Given the description of an element on the screen output the (x, y) to click on. 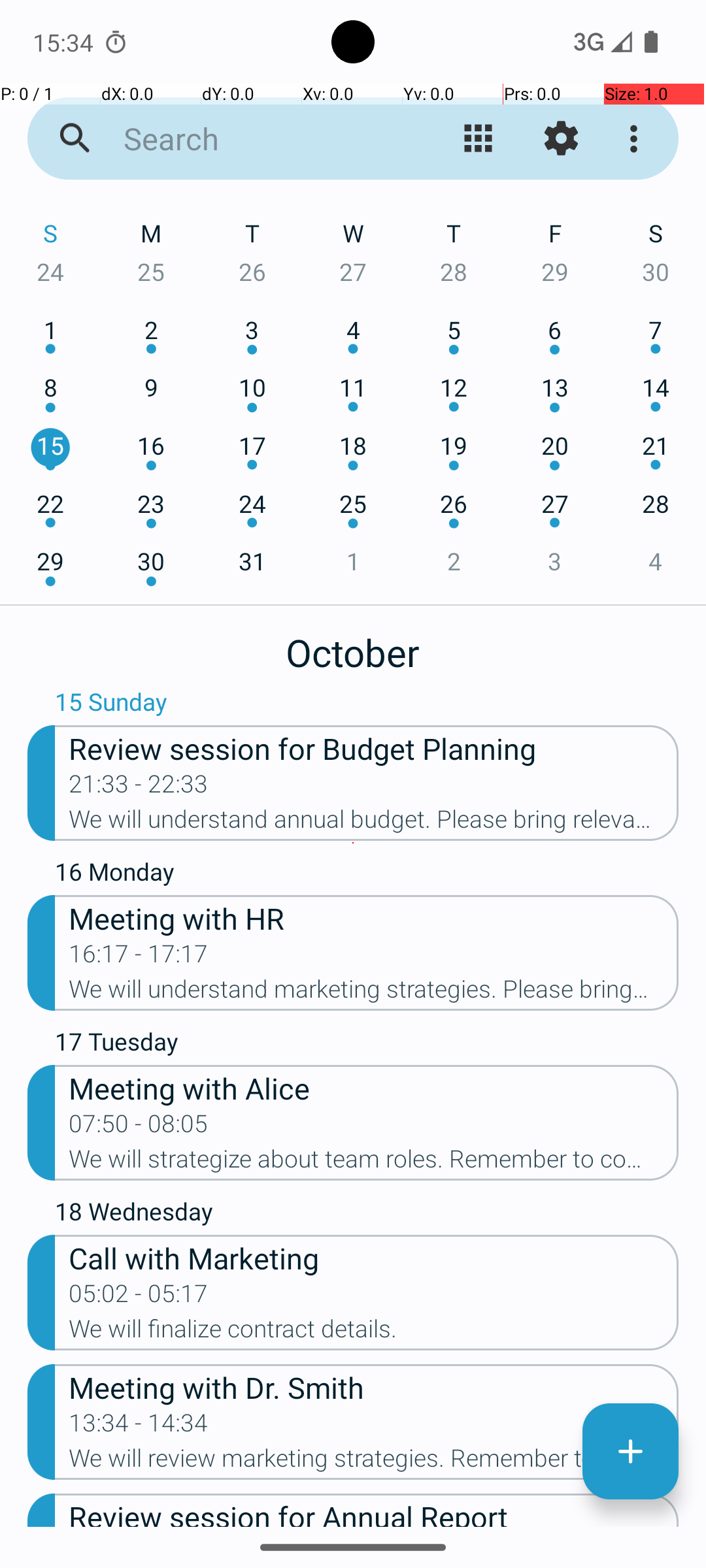
21:33 - 22:33 Element type: android.widget.TextView (137, 787)
We will understand annual budget. Please bring relevant documents. Element type: android.widget.TextView (373, 822)
16:17 - 17:17 Element type: android.widget.TextView (137, 957)
We will understand marketing strategies. Please bring relevant documents. Element type: android.widget.TextView (373, 992)
07:50 - 08:05 Element type: android.widget.TextView (137, 1127)
We will strategize about team roles. Remember to confirm attendance. Element type: android.widget.TextView (373, 1162)
05:02 - 05:17 Element type: android.widget.TextView (137, 1297)
We will finalize contract details. Element type: android.widget.TextView (373, 1332)
13:34 - 14:34 Element type: android.widget.TextView (137, 1426)
We will review marketing strategies. Remember to confirm attendance. Element type: android.widget.TextView (373, 1461)
